Given the description of an element on the screen output the (x, y) to click on. 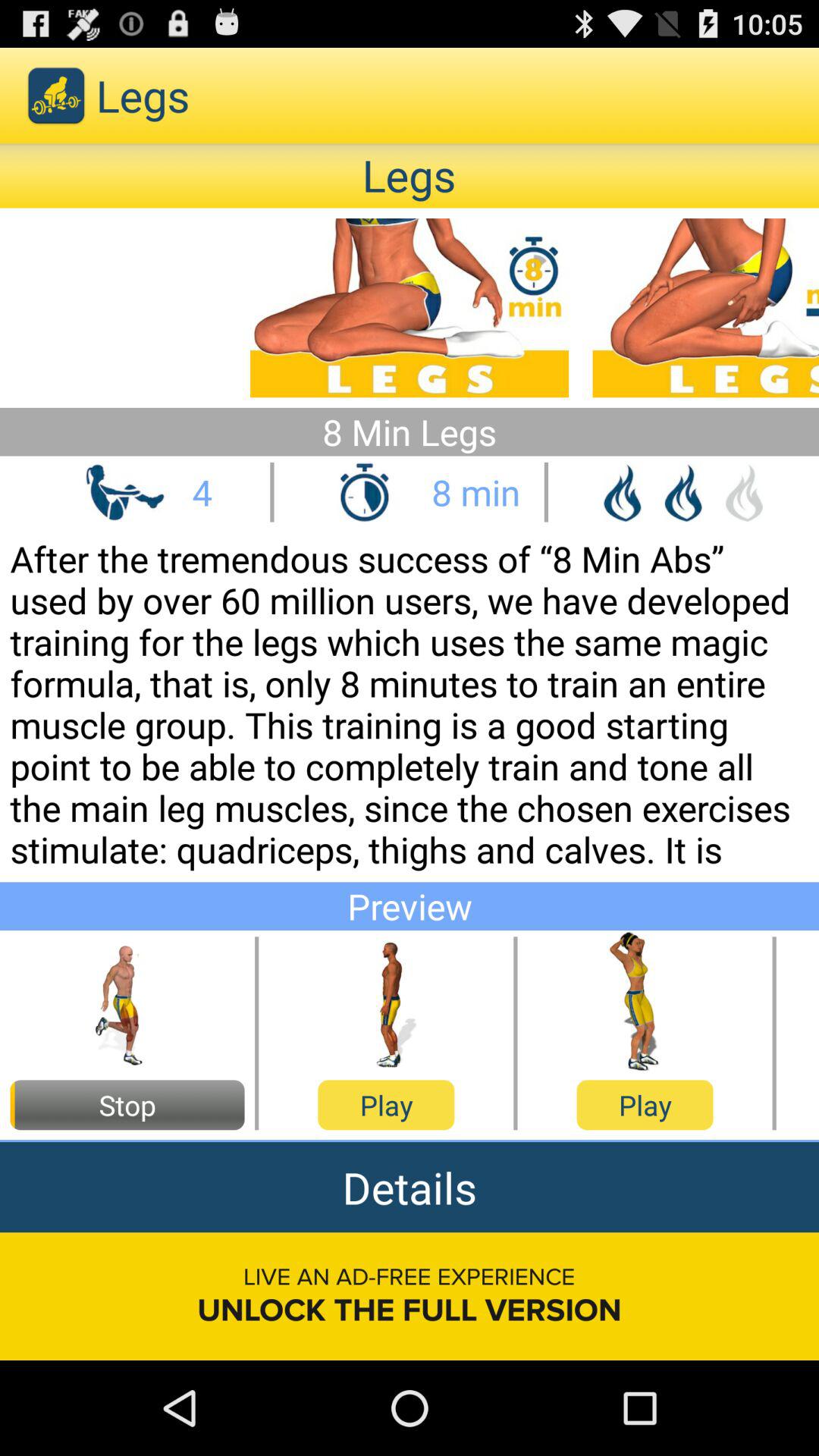
flip to details (409, 1187)
